Given the description of an element on the screen output the (x, y) to click on. 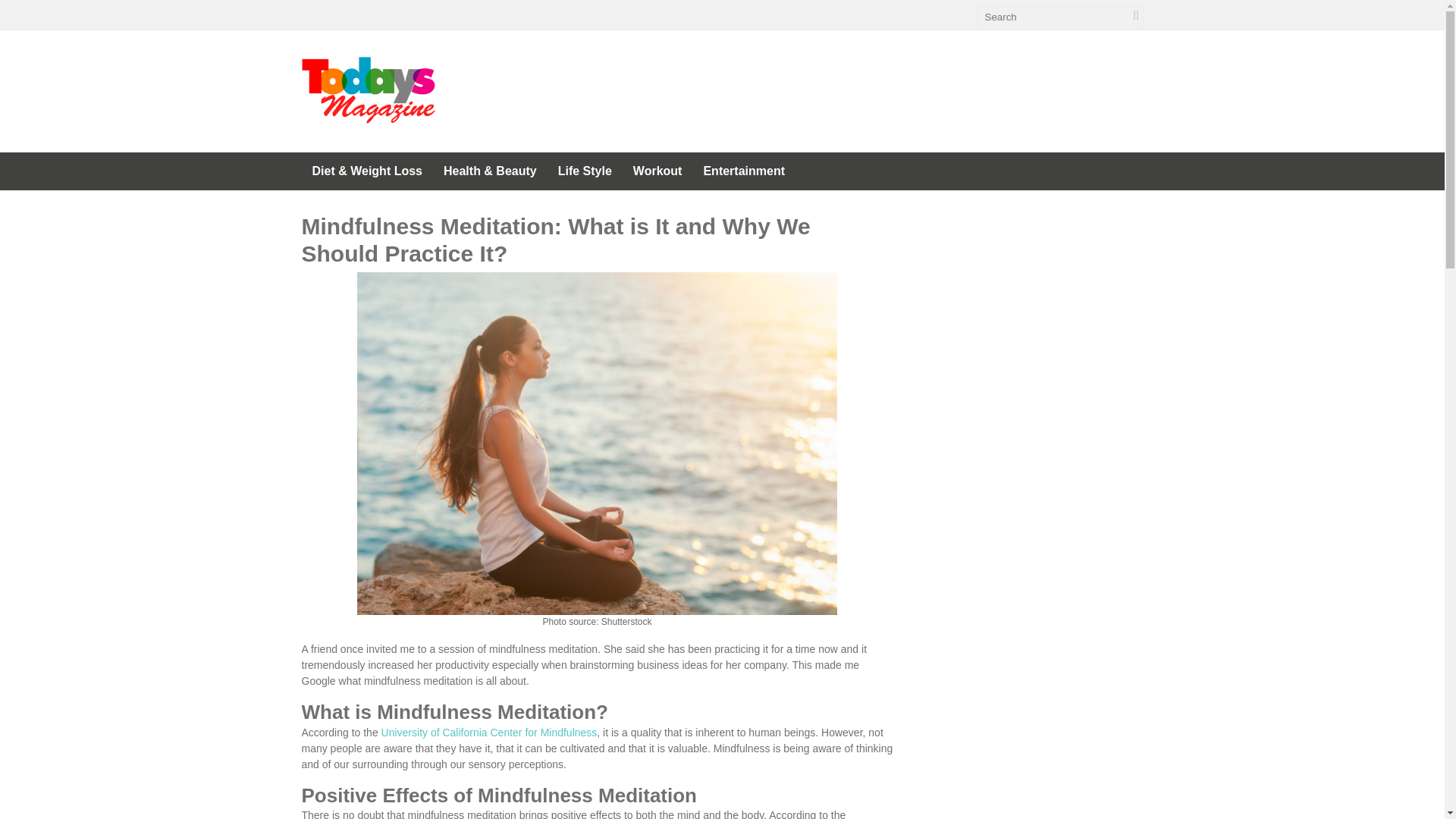
Todays Magazine (369, 115)
Entertainment (743, 171)
Workout (658, 171)
University of California Center for Mindfulness (488, 732)
Life Style (585, 171)
